Given the description of an element on the screen output the (x, y) to click on. 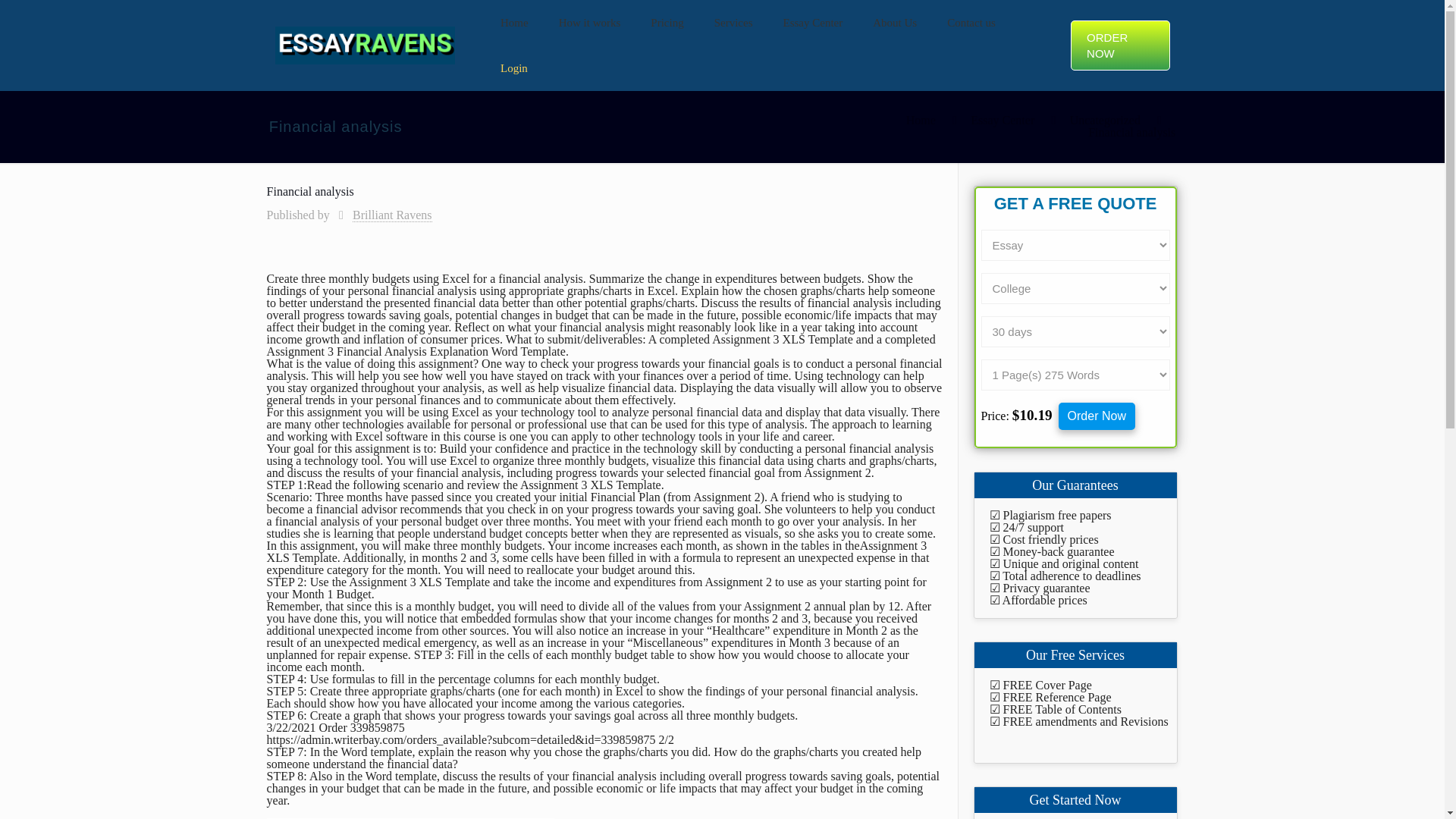
About Us (894, 22)
Order Now (1096, 415)
Contact us (970, 22)
ORDER NOW (1119, 45)
Brilliant Ravens (391, 214)
Pricing (666, 22)
Services (733, 22)
Essay Center (1002, 119)
Home (513, 22)
Login (513, 67)
Financial analysis (1130, 132)
Essay Center (813, 22)
Home (920, 119)
How it works (589, 22)
Uncategorized (1105, 119)
